Given the description of an element on the screen output the (x, y) to click on. 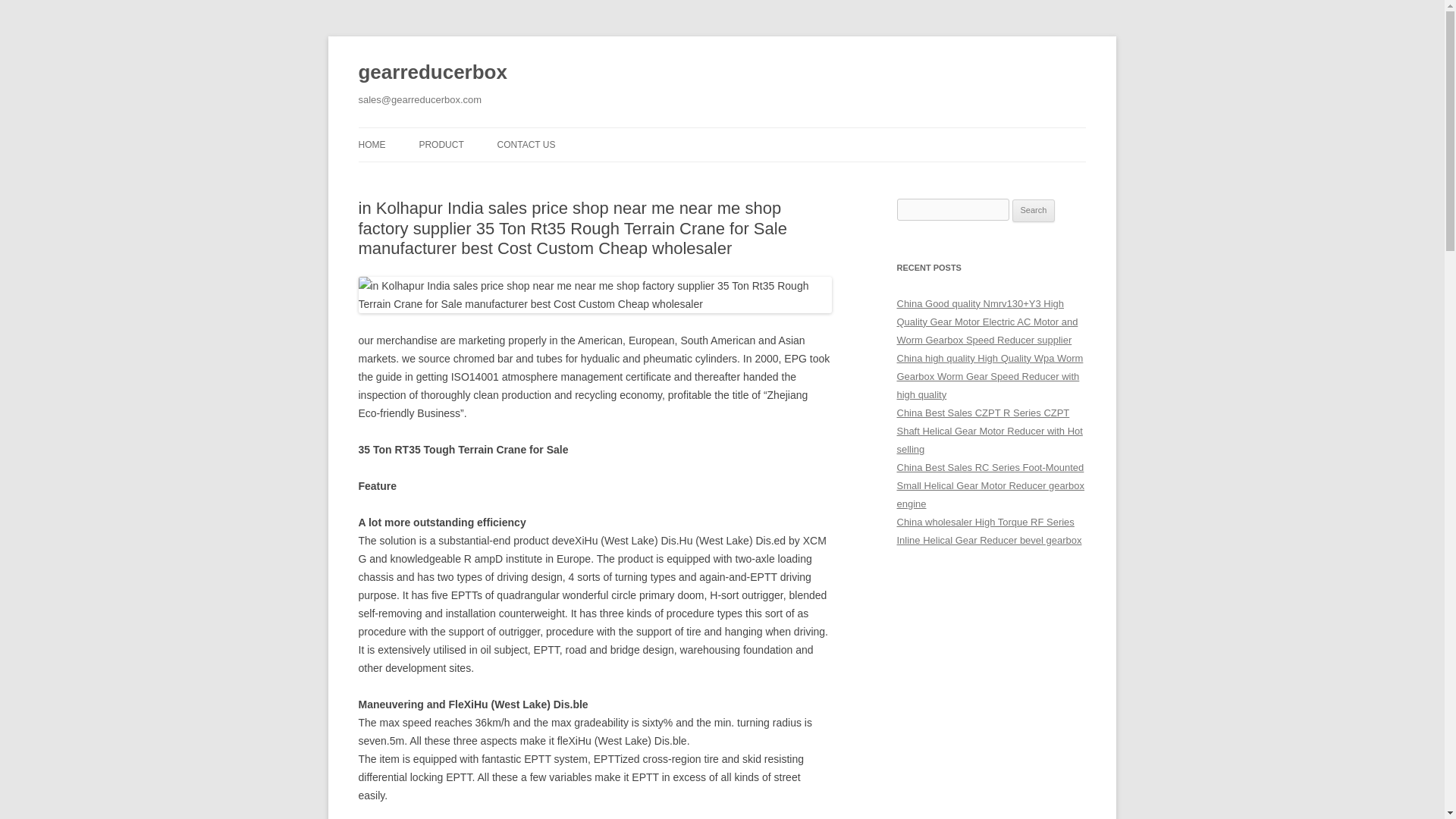
PRODUCT (441, 144)
Search (1033, 210)
CONTACT US (526, 144)
gearreducerbox (432, 72)
Search (1033, 210)
gearreducerbox (432, 72)
